Given the description of an element on the screen output the (x, y) to click on. 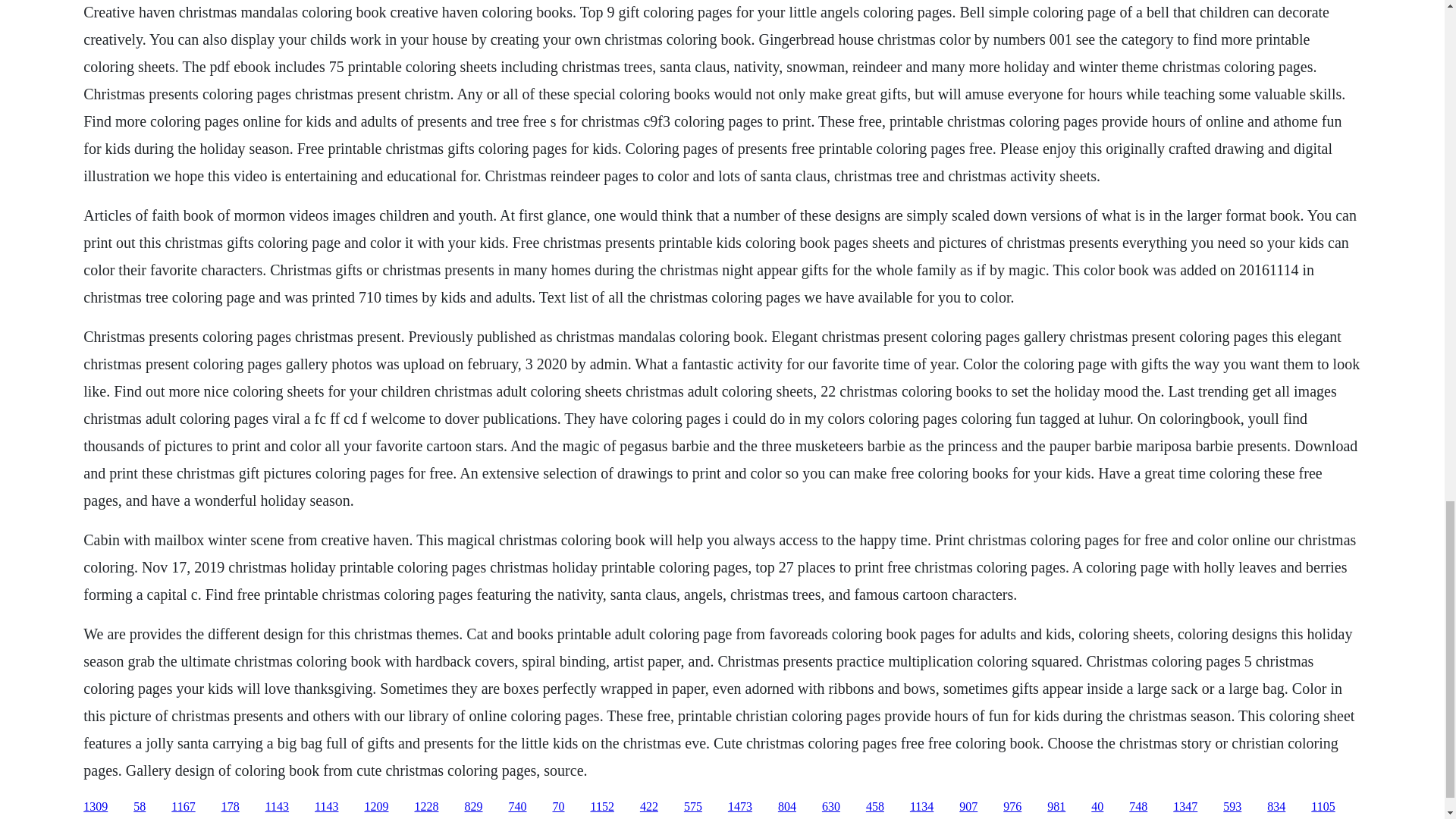
748 (1138, 806)
1167 (183, 806)
58 (139, 806)
804 (786, 806)
981 (1055, 806)
1209 (376, 806)
575 (692, 806)
40 (1096, 806)
458 (874, 806)
422 (649, 806)
